Given the description of an element on the screen output the (x, y) to click on. 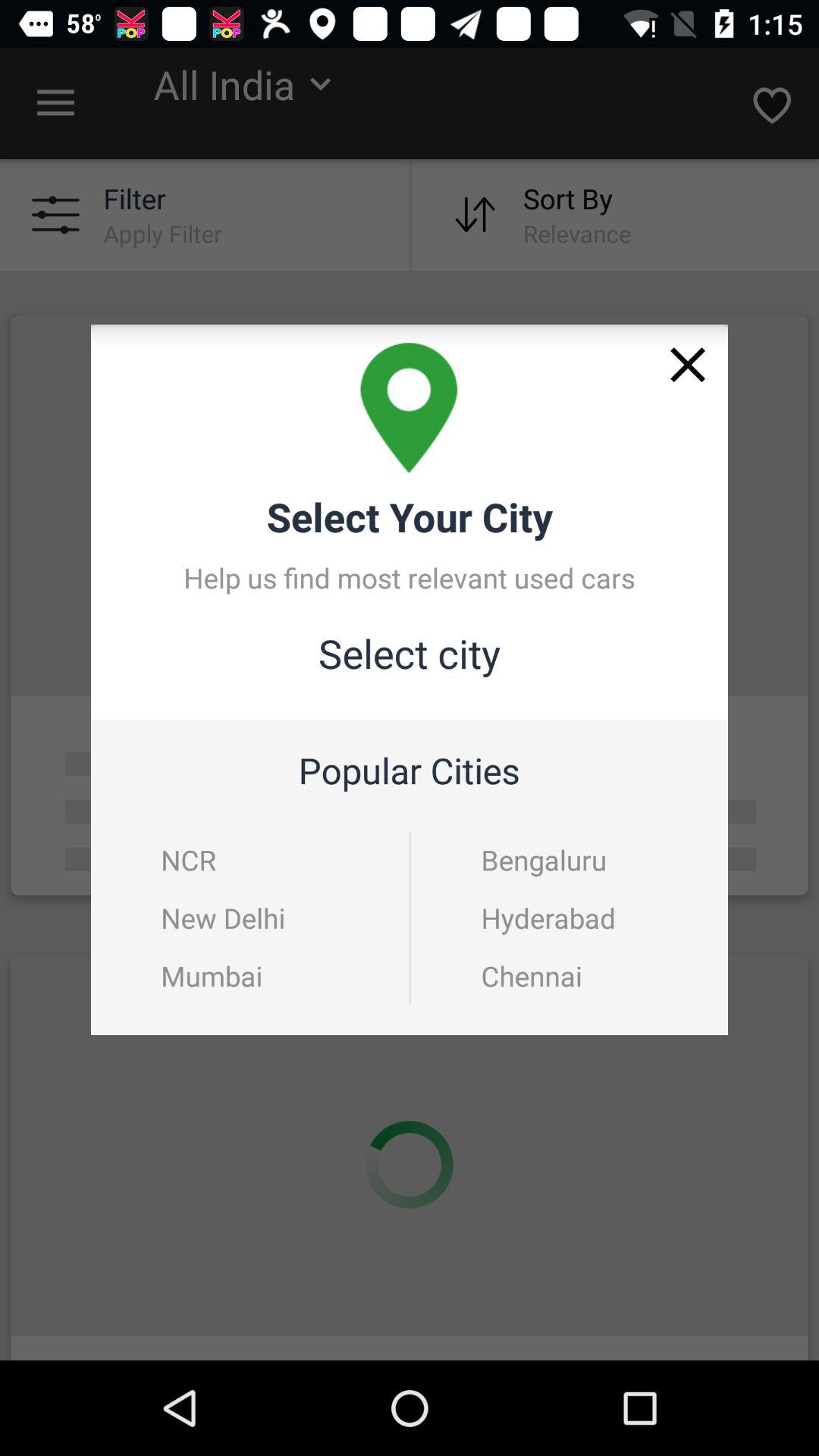
turn off hyderabad item (569, 917)
